Given the description of an element on the screen output the (x, y) to click on. 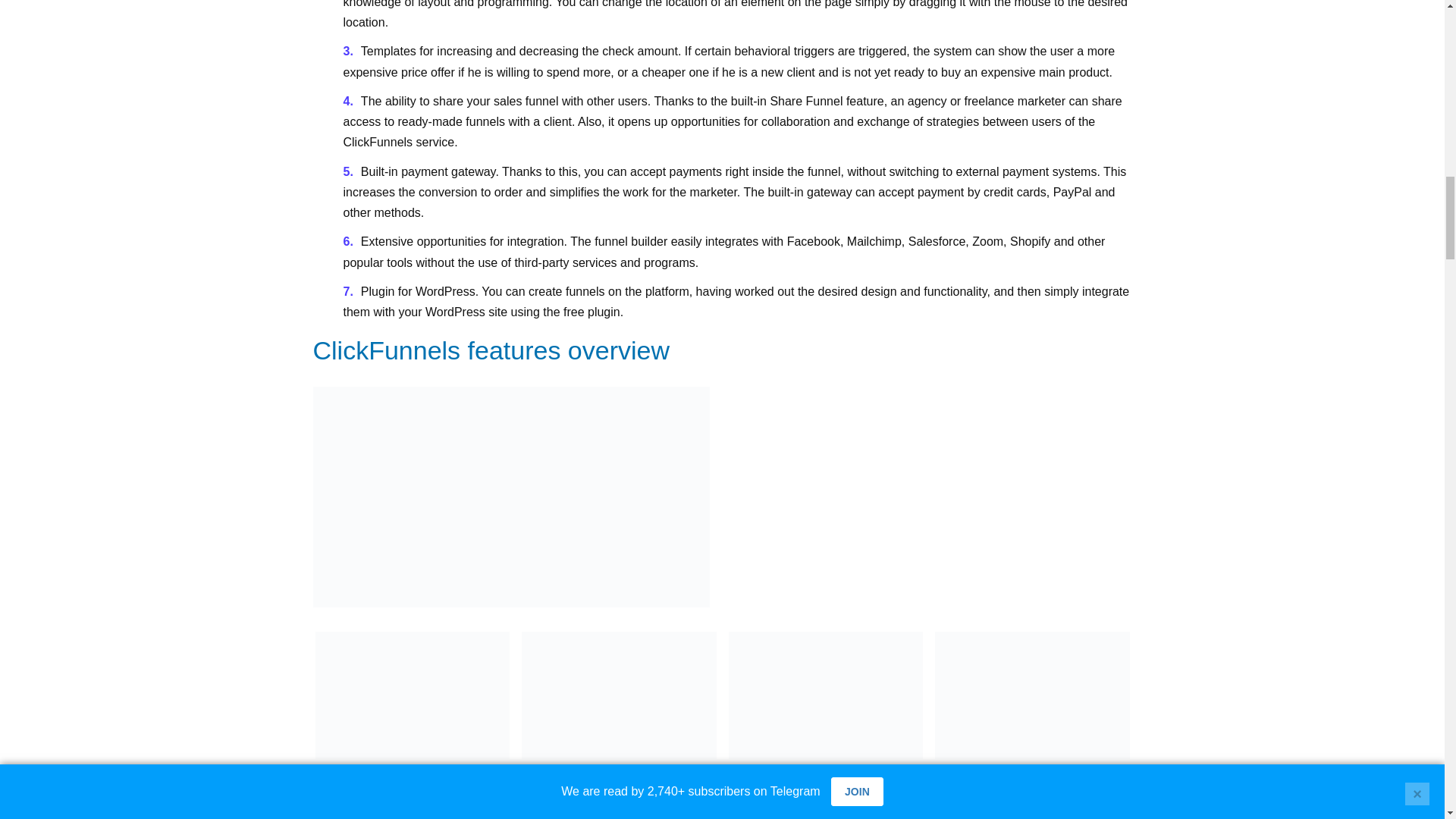
Wix Website Builder Review (825, 695)
Organization of work with a contractor in Google advertising (413, 695)
Full instructions: connect Performance Max to Prom.ua (1031, 695)
Comparison of Leadpages and ClickFunnels services (618, 695)
